Given the description of an element on the screen output the (x, y) to click on. 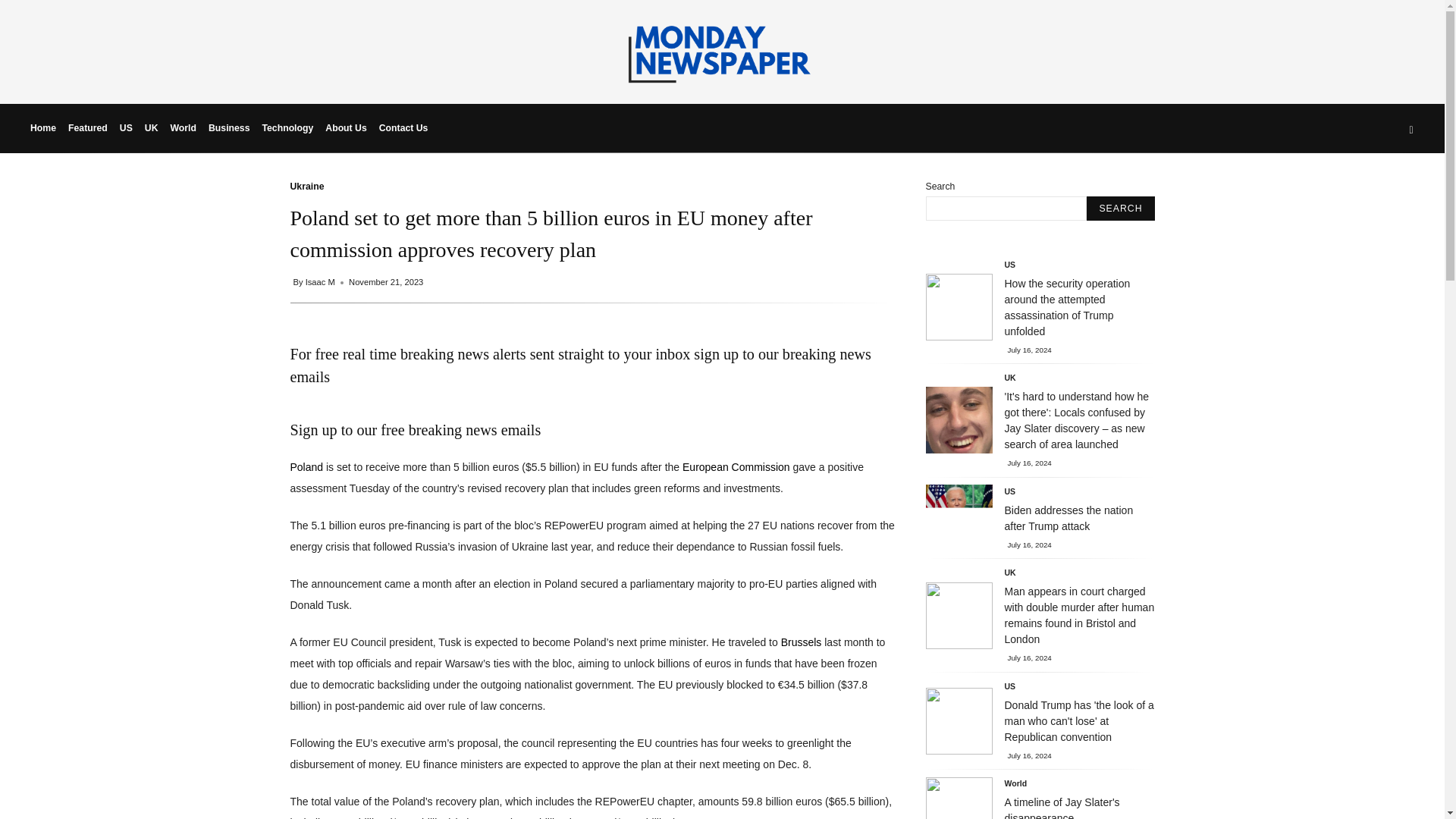
Technology (287, 128)
Isaac M (321, 281)
About Us (345, 128)
European Commission (736, 467)
Brussels (801, 642)
SEARCH (1120, 207)
Poland (306, 467)
Featured (87, 128)
Monday Newspaper (722, 80)
Ukraine (306, 185)
Contact Us (402, 128)
Business (229, 128)
Isaac M (321, 281)
